Given the description of an element on the screen output the (x, y) to click on. 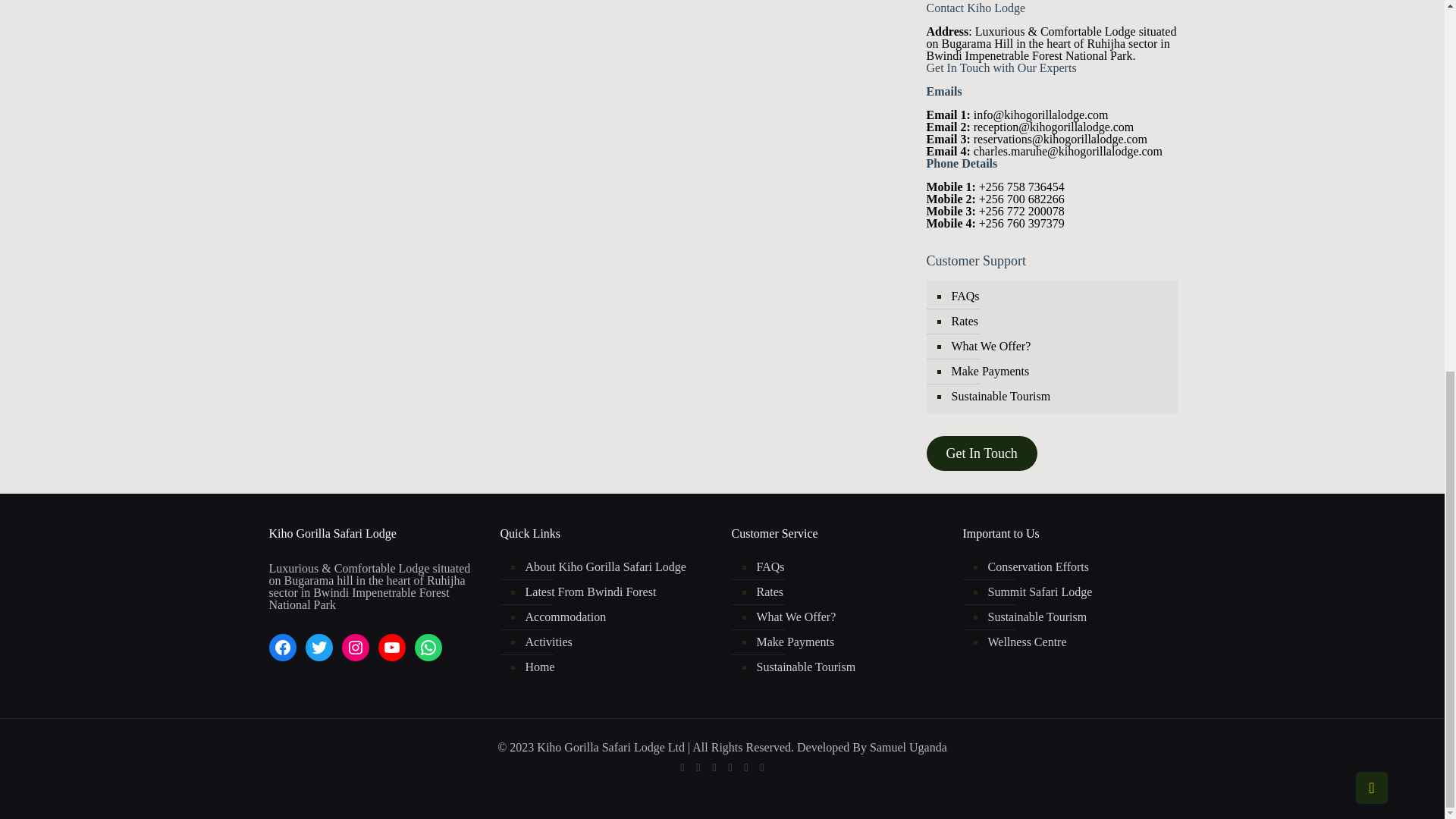
Ruhijha sector (1121, 42)
YouTube (730, 767)
What We Offer? (1059, 346)
Instagram (745, 767)
FAQs (1059, 296)
WhatsApp (682, 767)
Tripadvisor (762, 767)
Twitter (713, 767)
Bwindi Impenetrable Forest National Park. (1030, 55)
Facebook (698, 767)
Make Payments (1059, 371)
Rates (1059, 321)
